Given the description of an element on the screen output the (x, y) to click on. 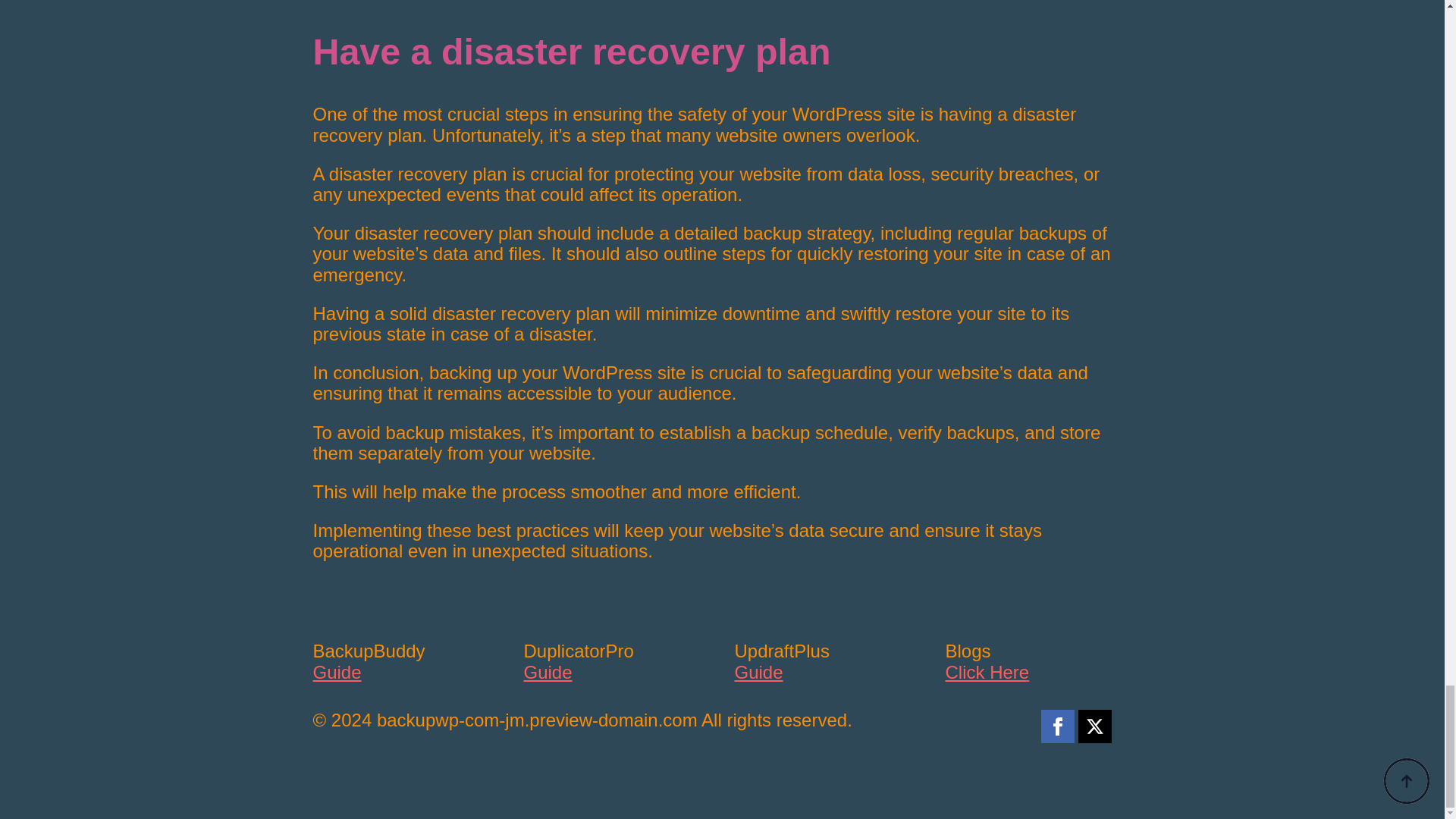
Guide (758, 671)
Guide (337, 671)
Click Here (986, 671)
Guide (547, 671)
